Given the description of an element on the screen output the (x, y) to click on. 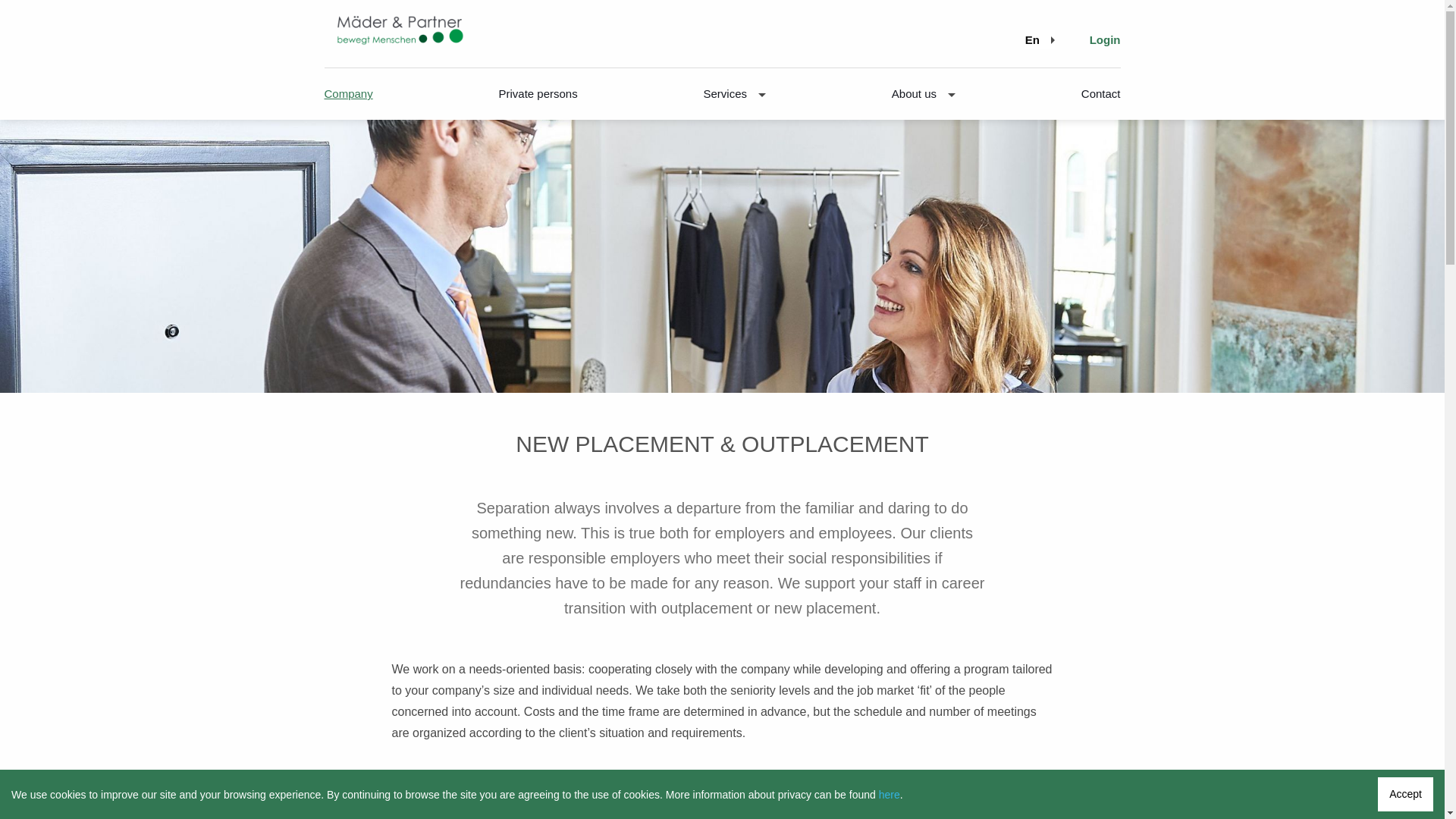
Services (734, 93)
Login (1105, 39)
Company (348, 93)
De (1042, 39)
Private persons (536, 93)
About us (923, 93)
Contact (1101, 93)
